Given the description of an element on the screen output the (x, y) to click on. 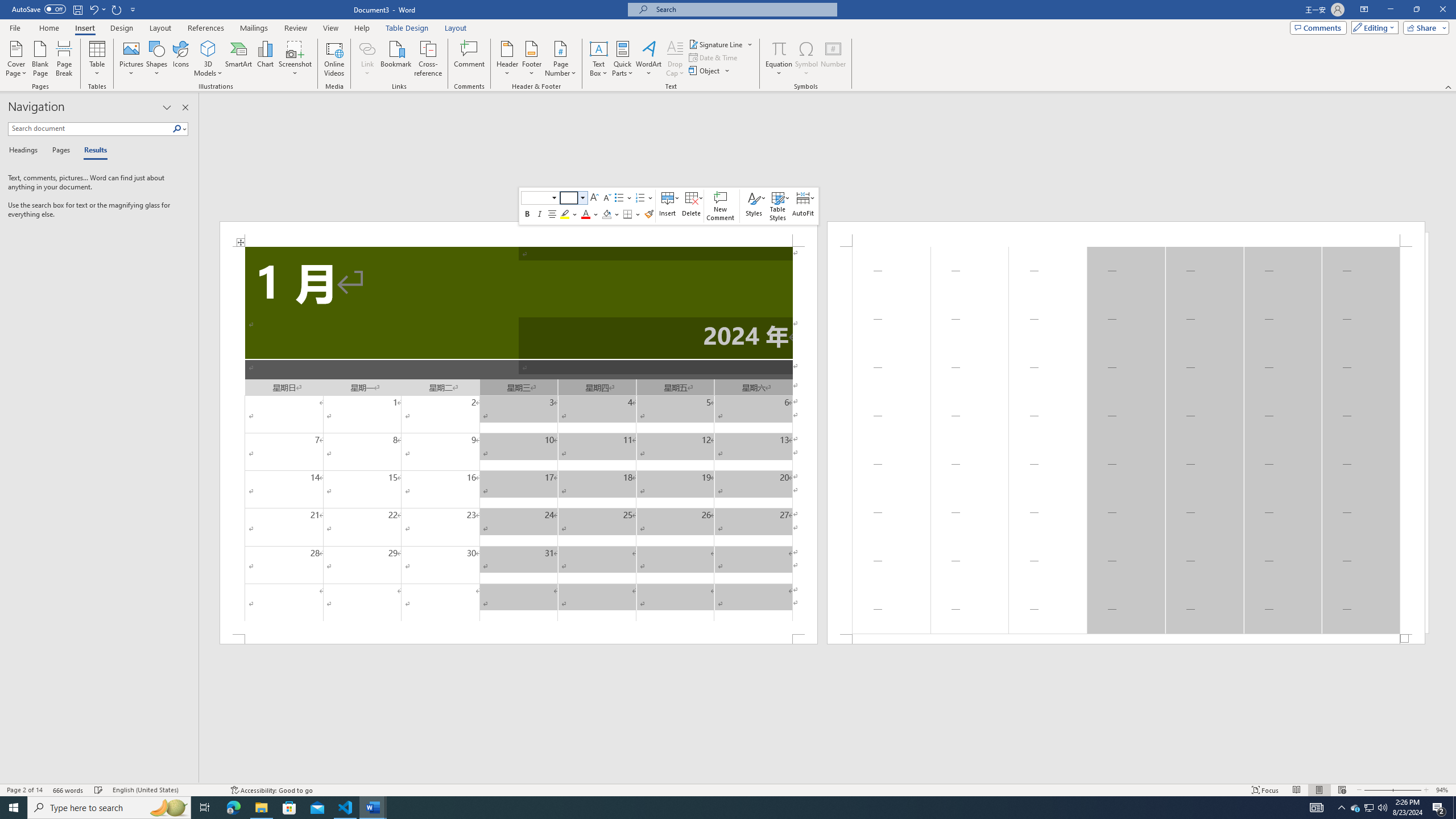
Signature Line (716, 44)
Undo Apply Quick Style (96, 9)
Pictures (131, 58)
WordArt (648, 58)
